Given the description of an element on the screen output the (x, y) to click on. 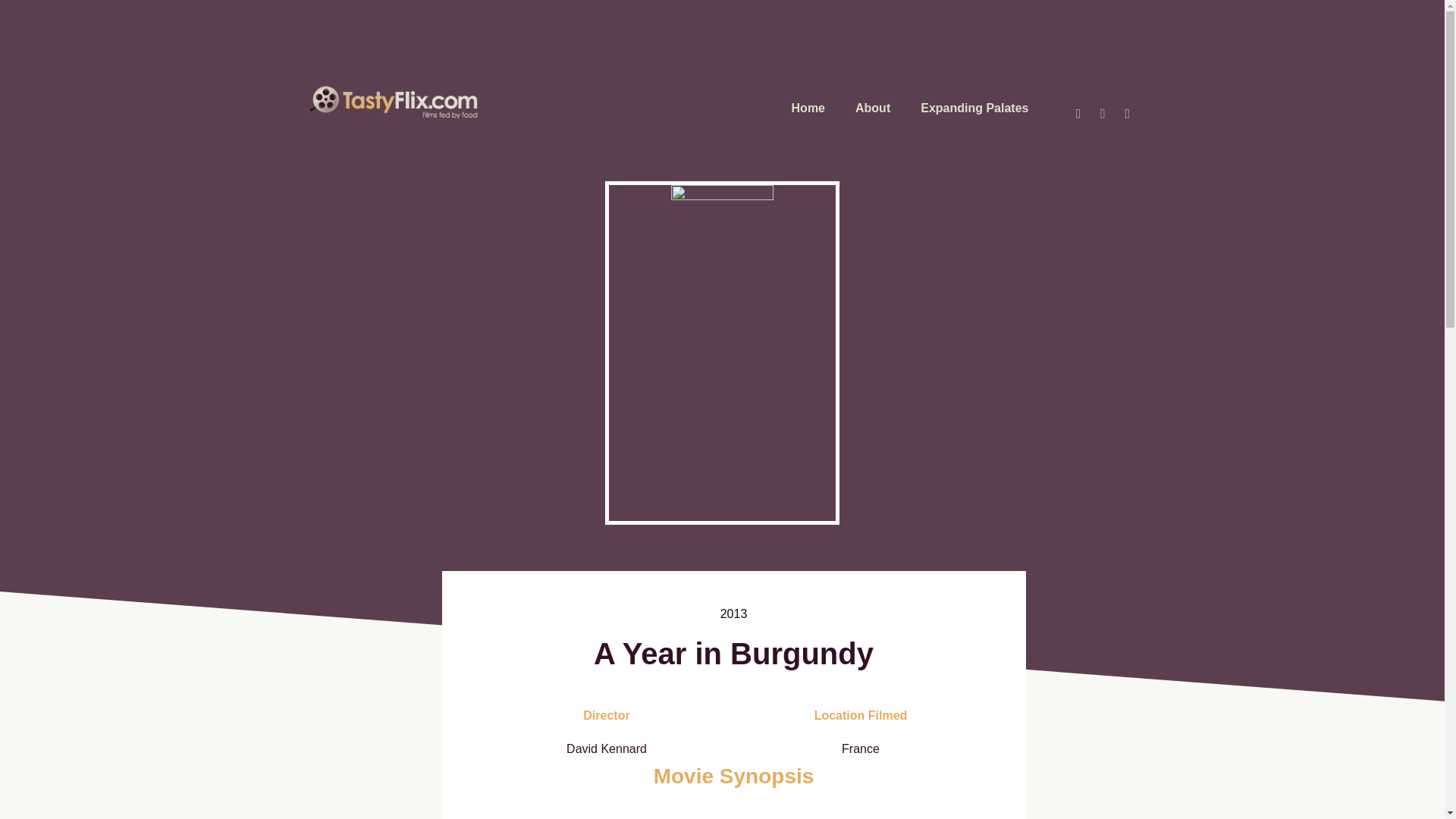
Home (808, 108)
Expanding Palates (974, 108)
About (872, 108)
